Given the description of an element on the screen output the (x, y) to click on. 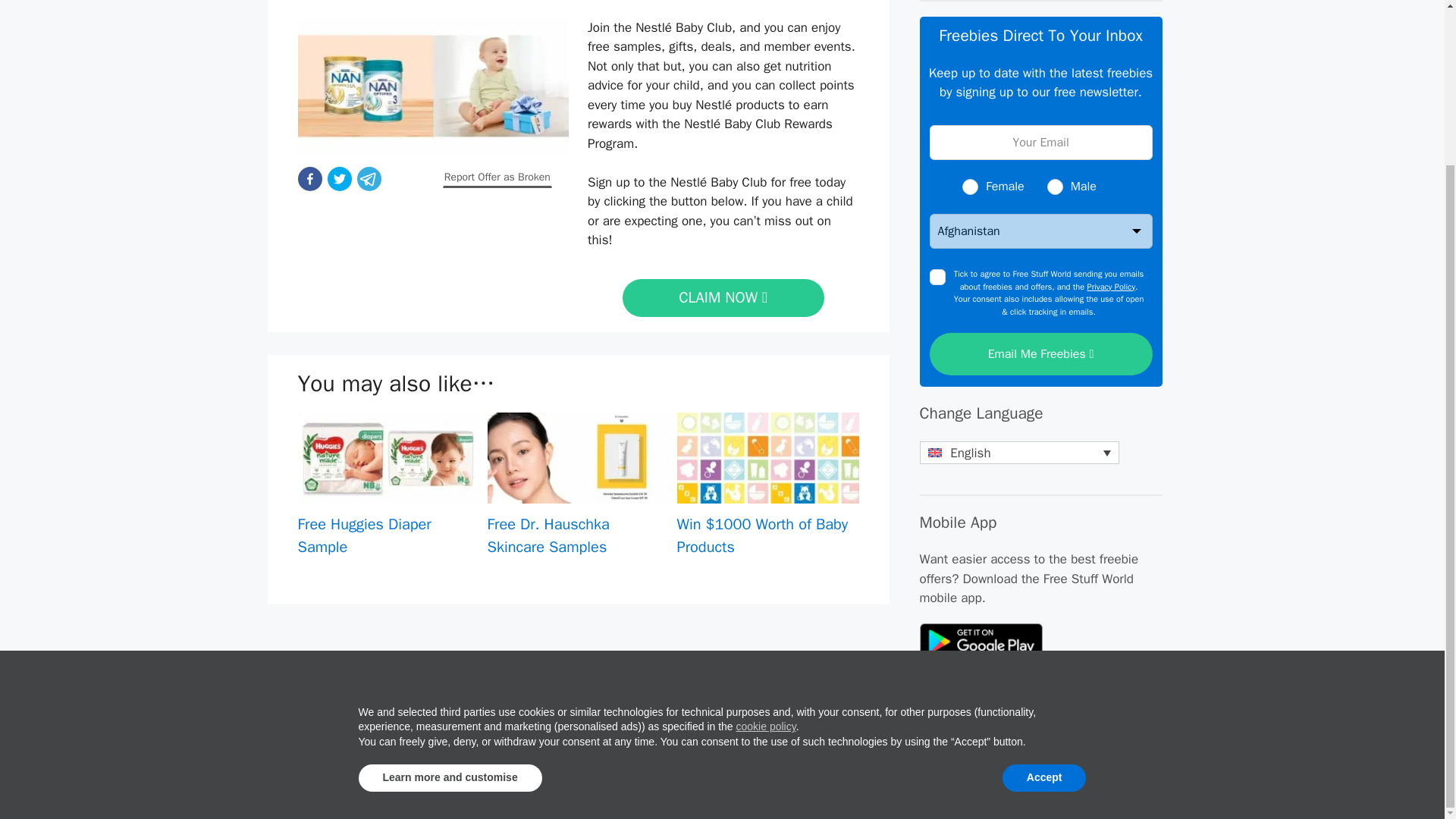
Report Offer as Broken (496, 177)
